Given the description of an element on the screen output the (x, y) to click on. 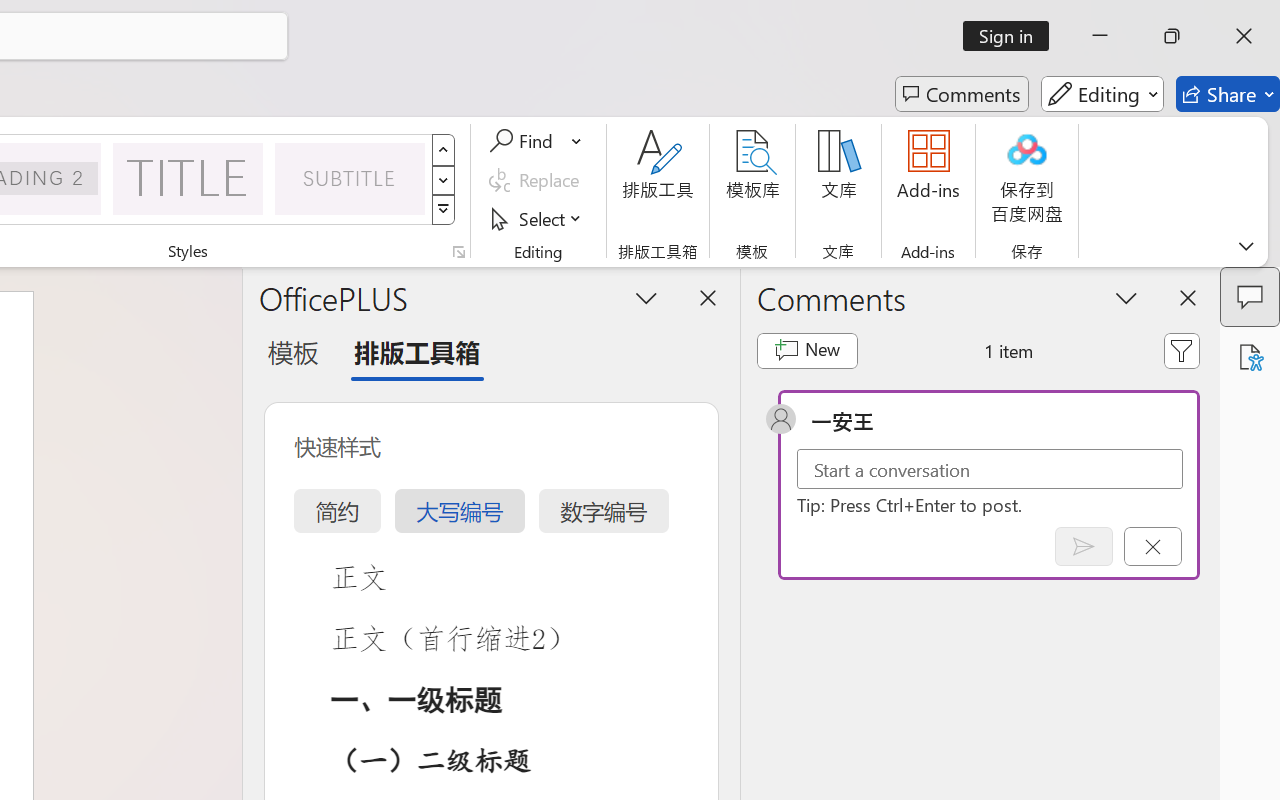
Post comment (Ctrl + Enter) (1083, 546)
Editing (1101, 94)
